Given the description of an element on the screen output the (x, y) to click on. 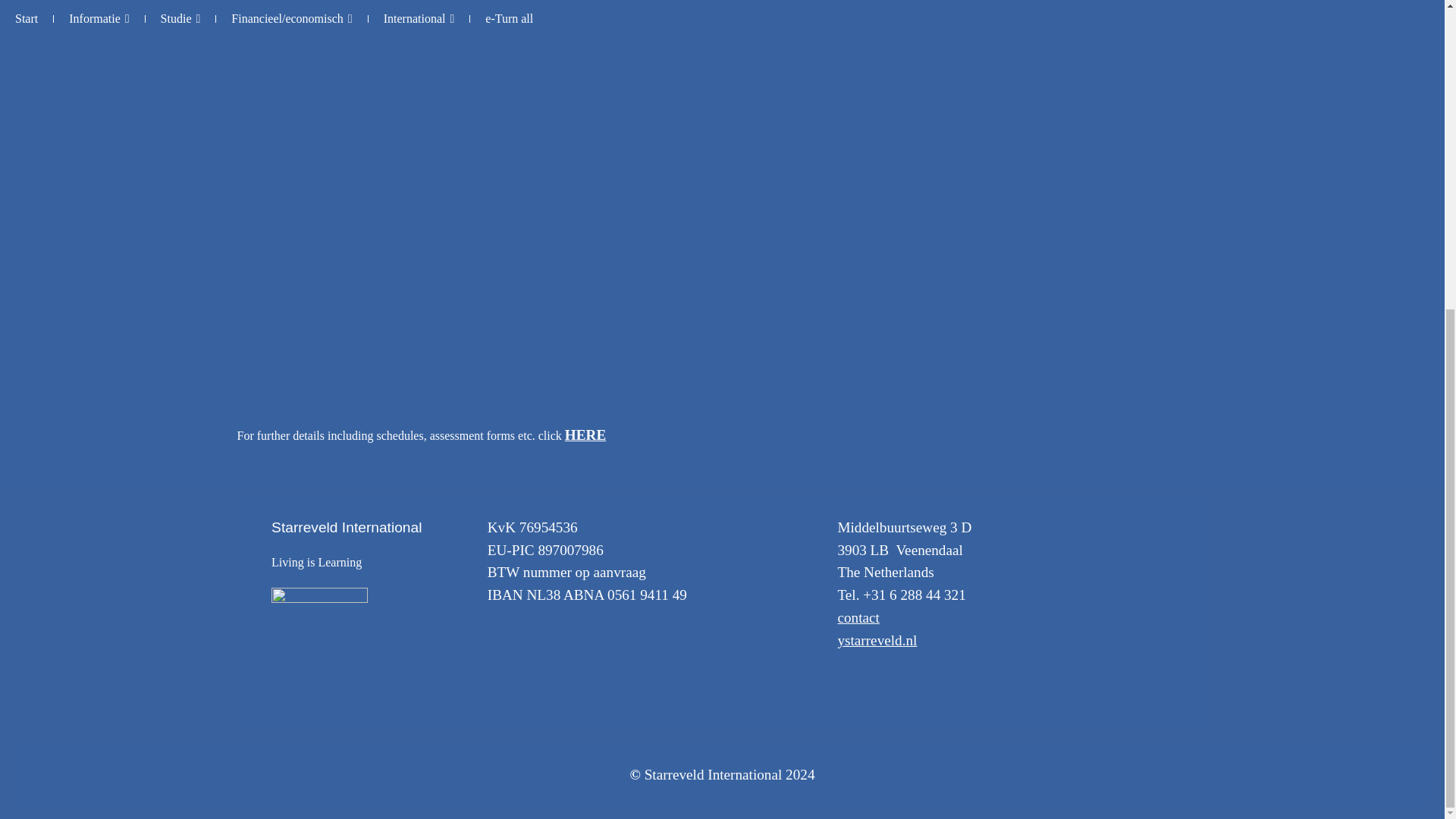
ystarreveld.nl (877, 640)
contact (858, 617)
HERE (584, 434)
Starreveld International (346, 527)
